Given the description of an element on the screen output the (x, y) to click on. 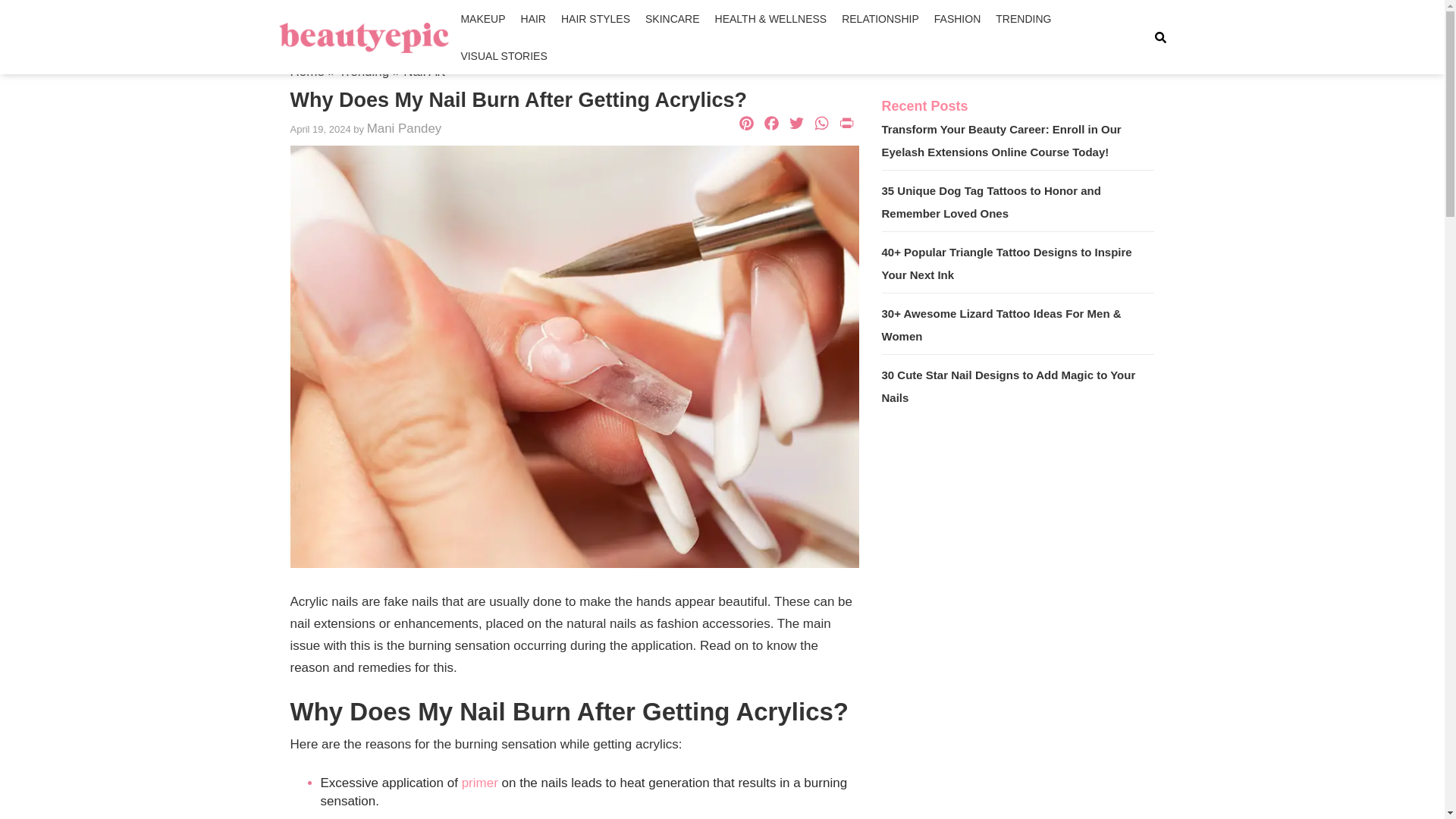
HAIR STYLES (595, 18)
WhatsApp (820, 124)
MAKEUP (482, 18)
SKINCARE (672, 18)
Pinterest (745, 124)
PrintFriendly (846, 124)
Twitter (796, 124)
Facebook (770, 124)
primer (479, 782)
